Given the description of an element on the screen output the (x, y) to click on. 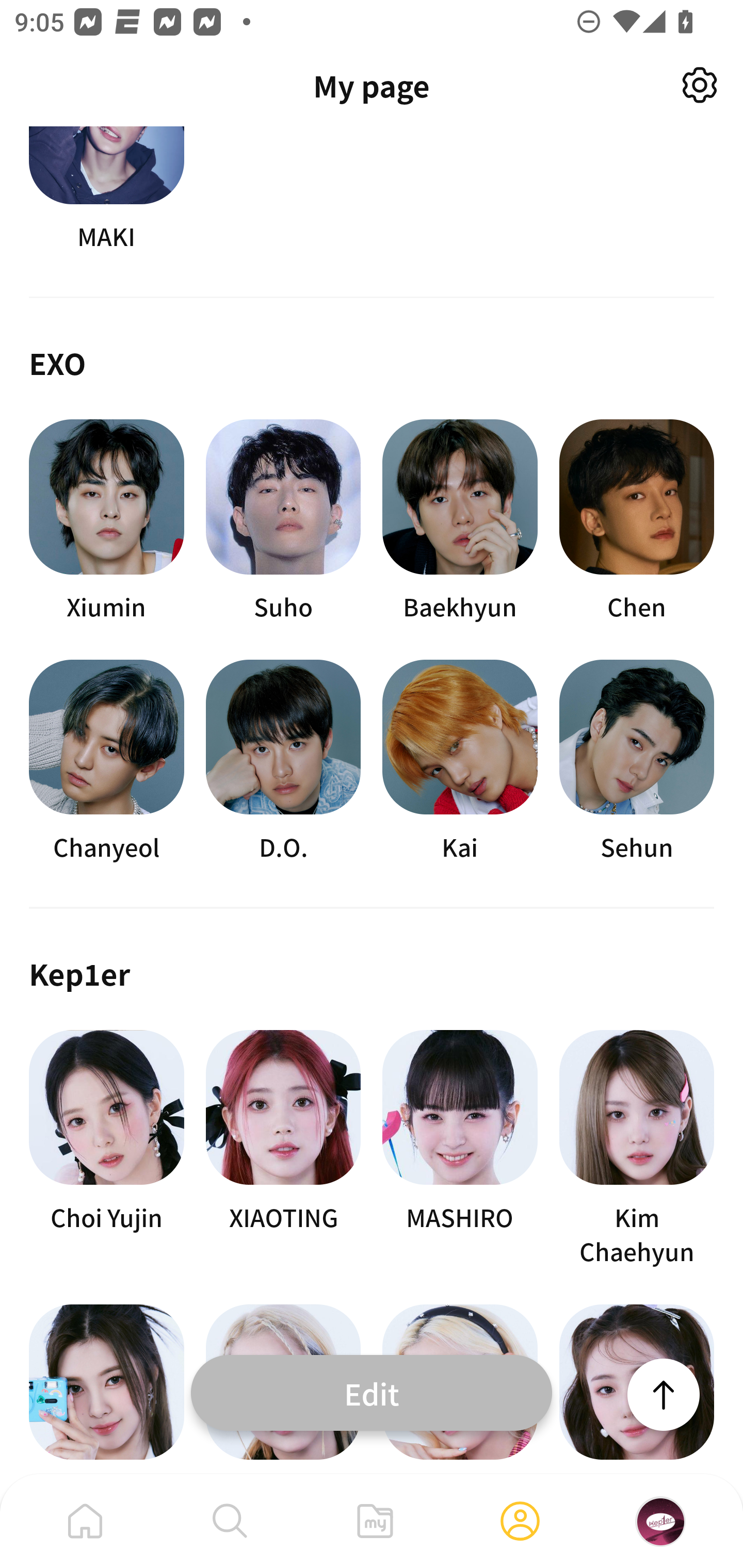
MAKI (106, 190)
Xiumin (106, 521)
Suho (282, 521)
Baekhyun (459, 521)
Chen (636, 521)
Chanyeol (106, 761)
D.O. (282, 761)
Kai (459, 761)
Sehun (636, 761)
Choi Yujin (106, 1149)
XIAOTING (282, 1149)
MASHIRO (459, 1149)
Kim Chaehyun (636, 1149)
Edit (371, 1392)
